Given the description of an element on the screen output the (x, y) to click on. 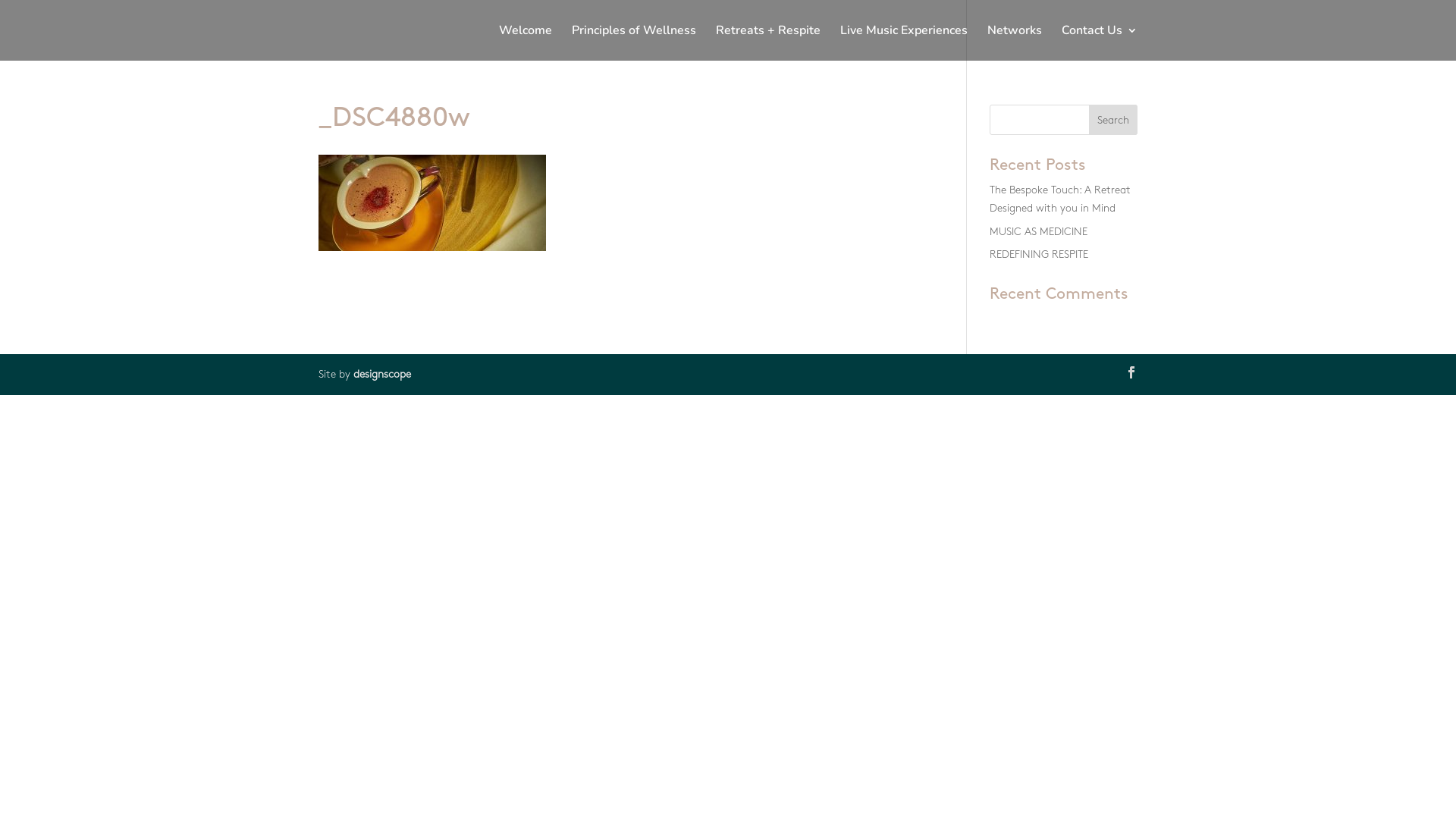
REDEFINING RESPITE Element type: text (1038, 254)
MUSIC AS MEDICINE Element type: text (1038, 231)
Welcome Element type: text (525, 42)
Retreats + Respite Element type: text (767, 42)
Live Music Experiences Element type: text (903, 42)
The Bespoke Touch: A Retreat Designed with you in Mind Element type: text (1059, 199)
designscope Element type: text (382, 374)
Networks Element type: text (1014, 42)
Search Element type: text (1112, 119)
Contact Us Element type: text (1099, 42)
Principles of Wellness Element type: text (633, 42)
